Given the description of an element on the screen output the (x, y) to click on. 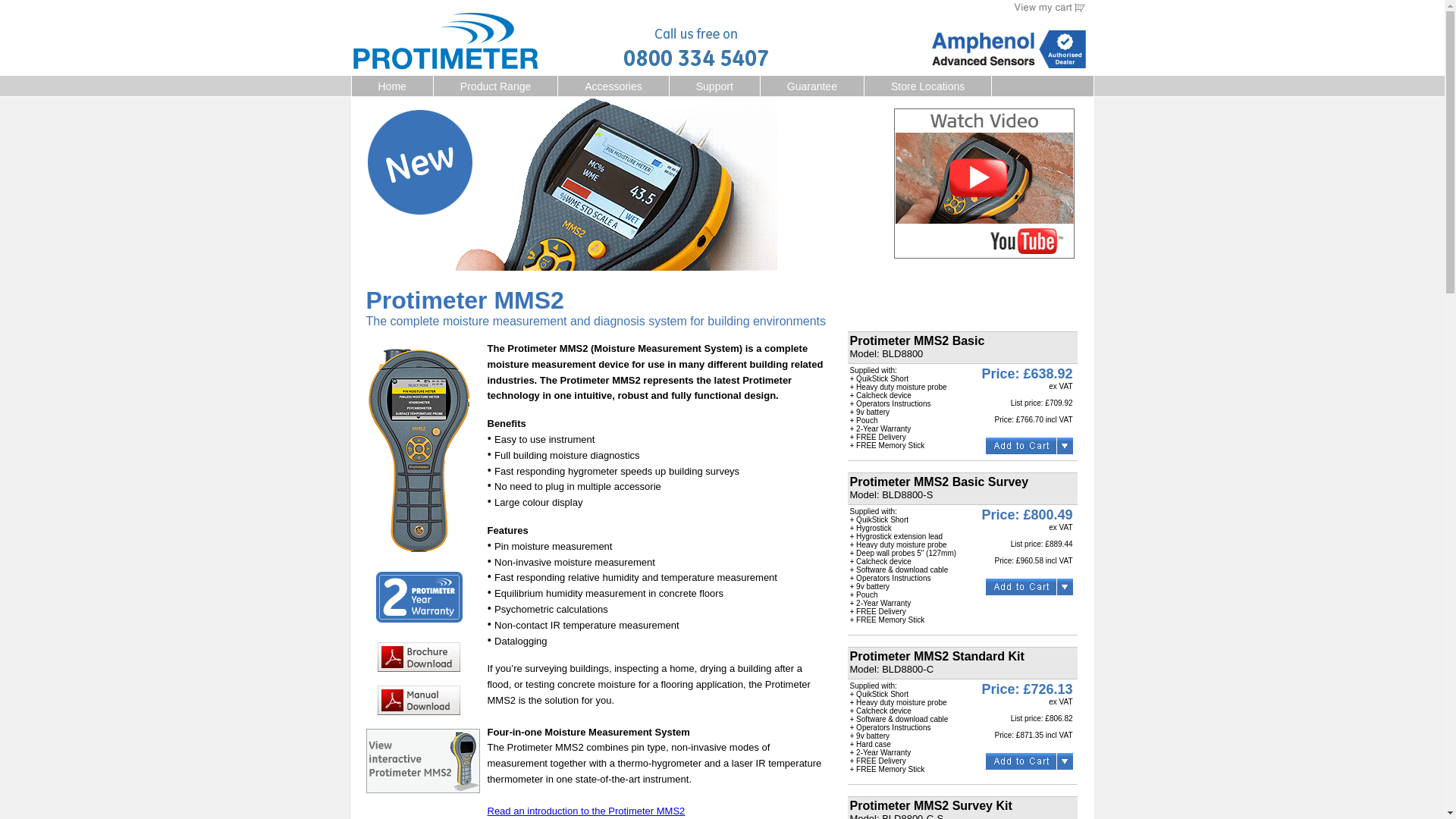
Read an introduction to the Protimeter MMS2 (585, 810)
Store Locations (927, 86)
Product Range (495, 86)
Introduction to Protimeter MMS2 (585, 810)
Interactive 3D demo of the Protimeter MMS2 (422, 788)
Home (392, 86)
Guarantee (811, 86)
Accessories (612, 86)
Support (714, 86)
